Given the description of an element on the screen output the (x, y) to click on. 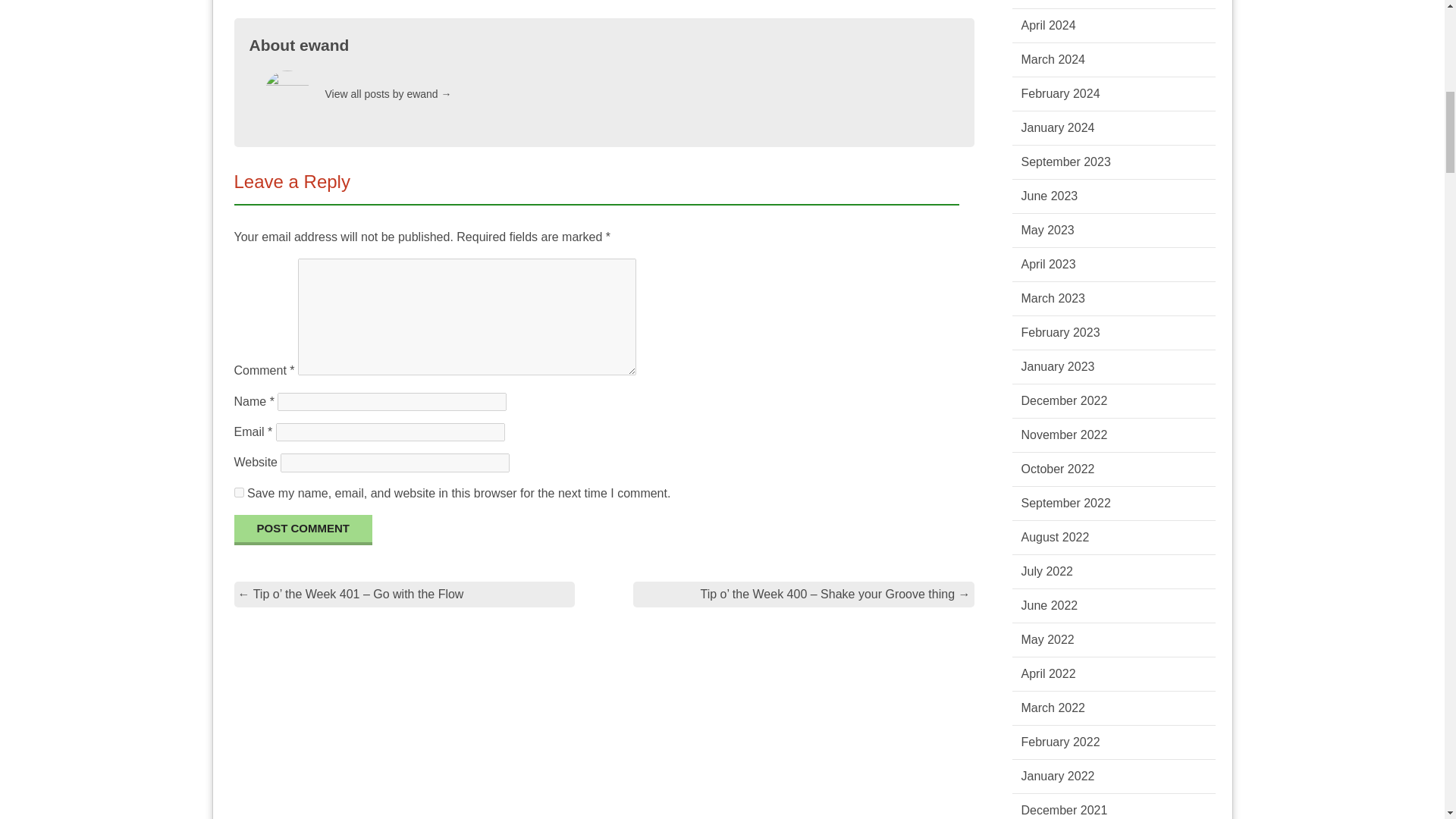
yes (237, 492)
April 2024 (1047, 24)
Post Comment (302, 530)
March 2024 (1052, 59)
Post Comment (302, 530)
